Given the description of an element on the screen output the (x, y) to click on. 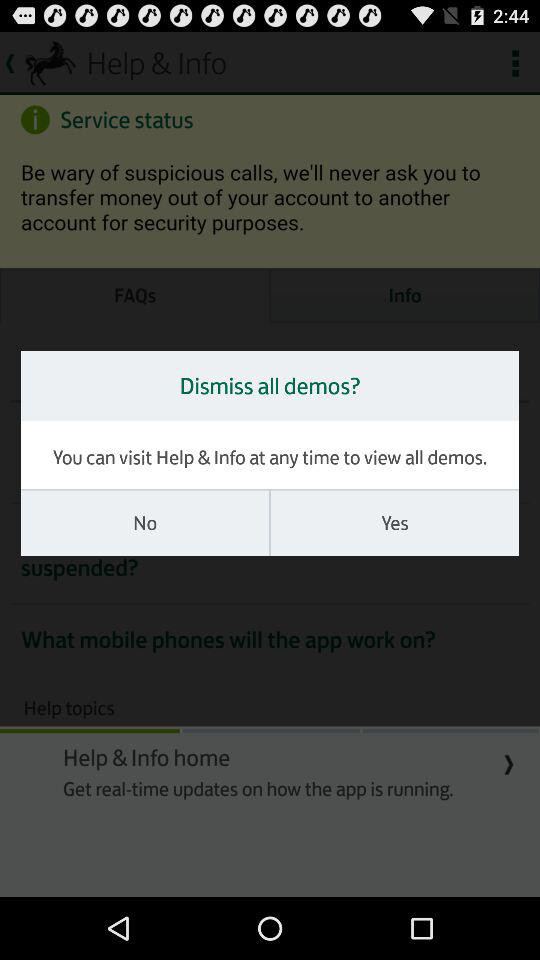
choose the icon on the left (145, 523)
